Given the description of an element on the screen output the (x, y) to click on. 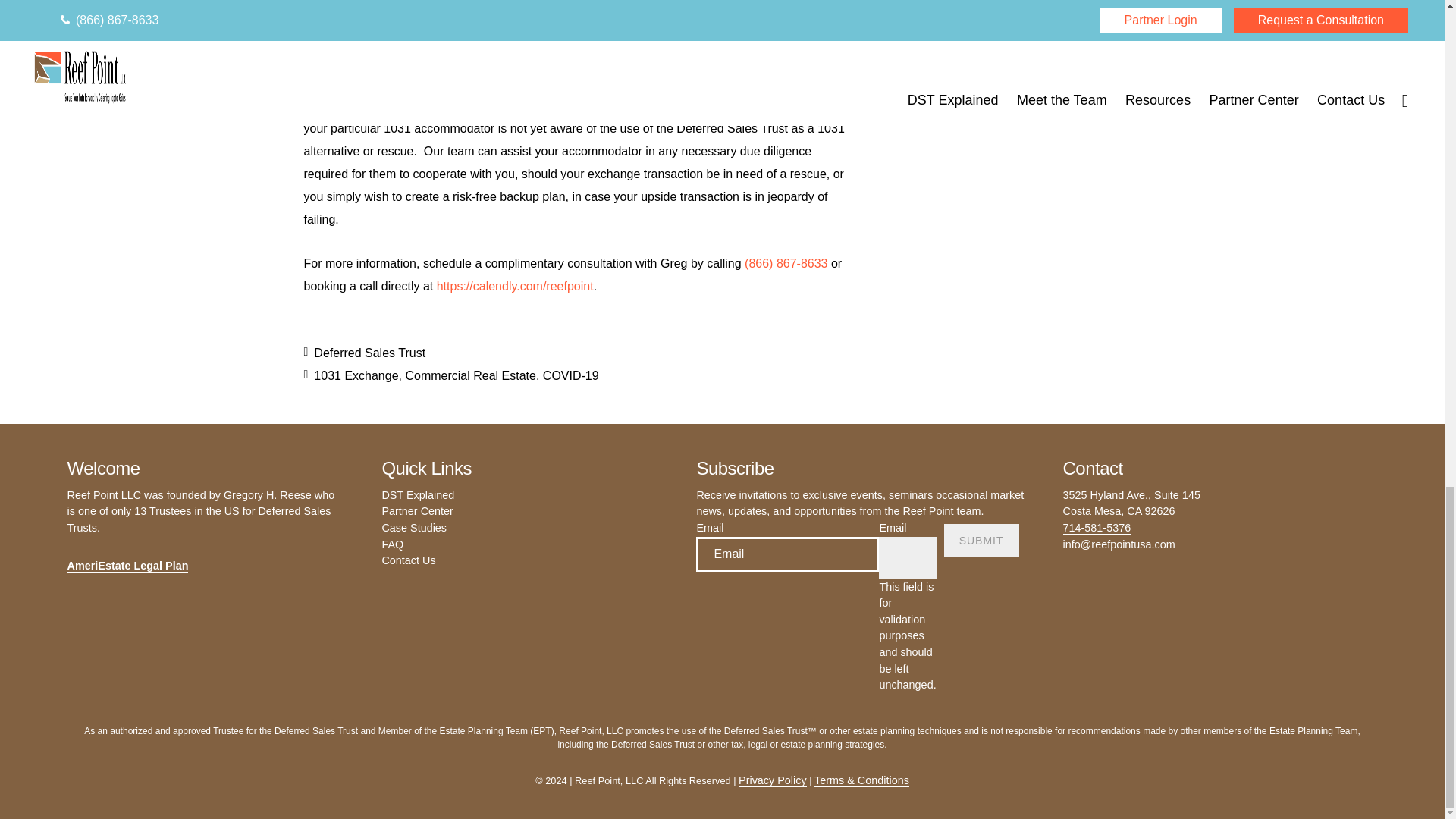
Deferred Sales Trust (369, 352)
Submit (981, 540)
1031 Exchange (355, 375)
